Given the description of an element on the screen output the (x, y) to click on. 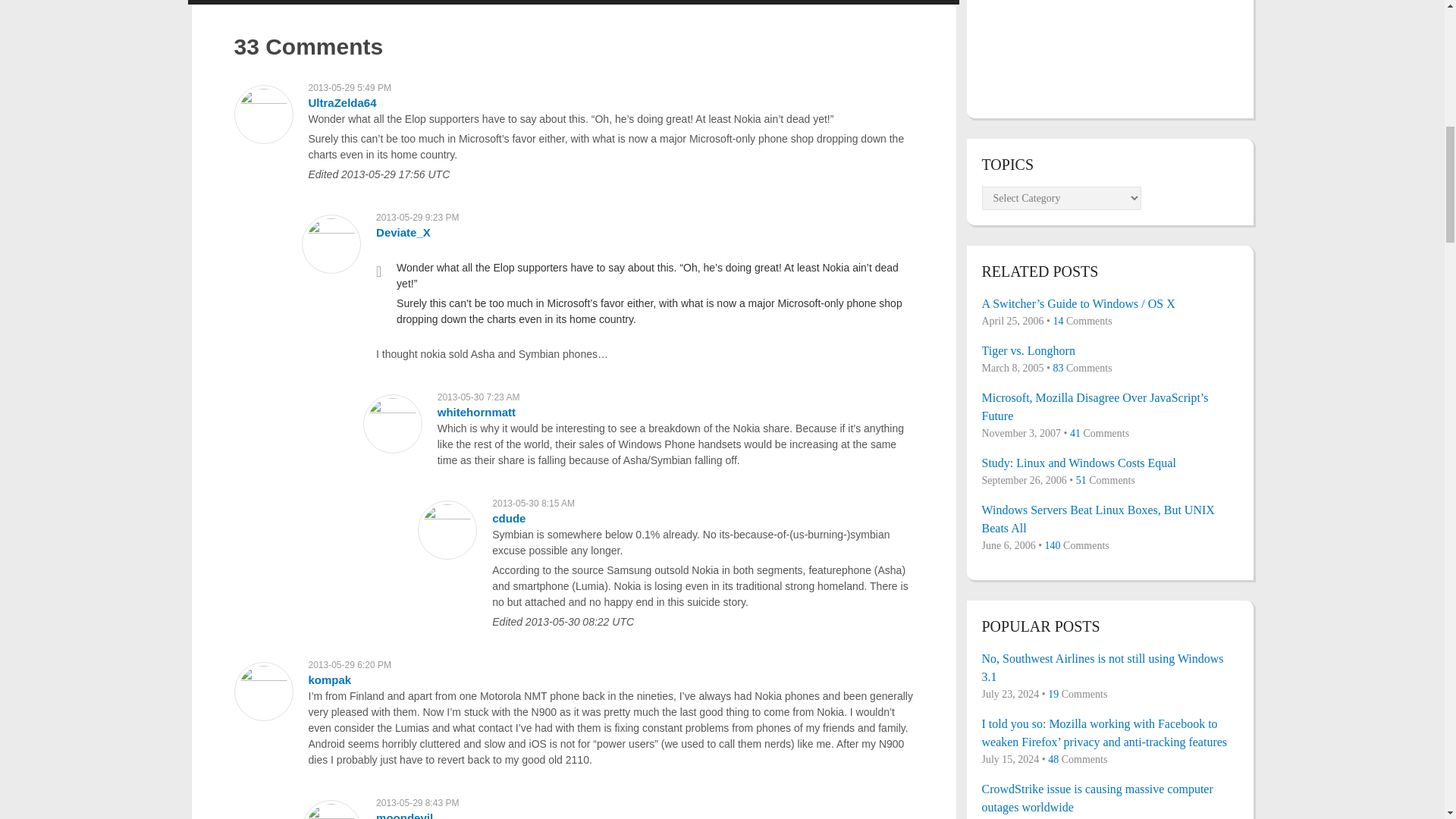
whitehornmatt (476, 411)
UltraZelda64 (341, 102)
kompak (328, 679)
moondevil (403, 815)
cdude (508, 517)
